Given the description of an element on the screen output the (x, y) to click on. 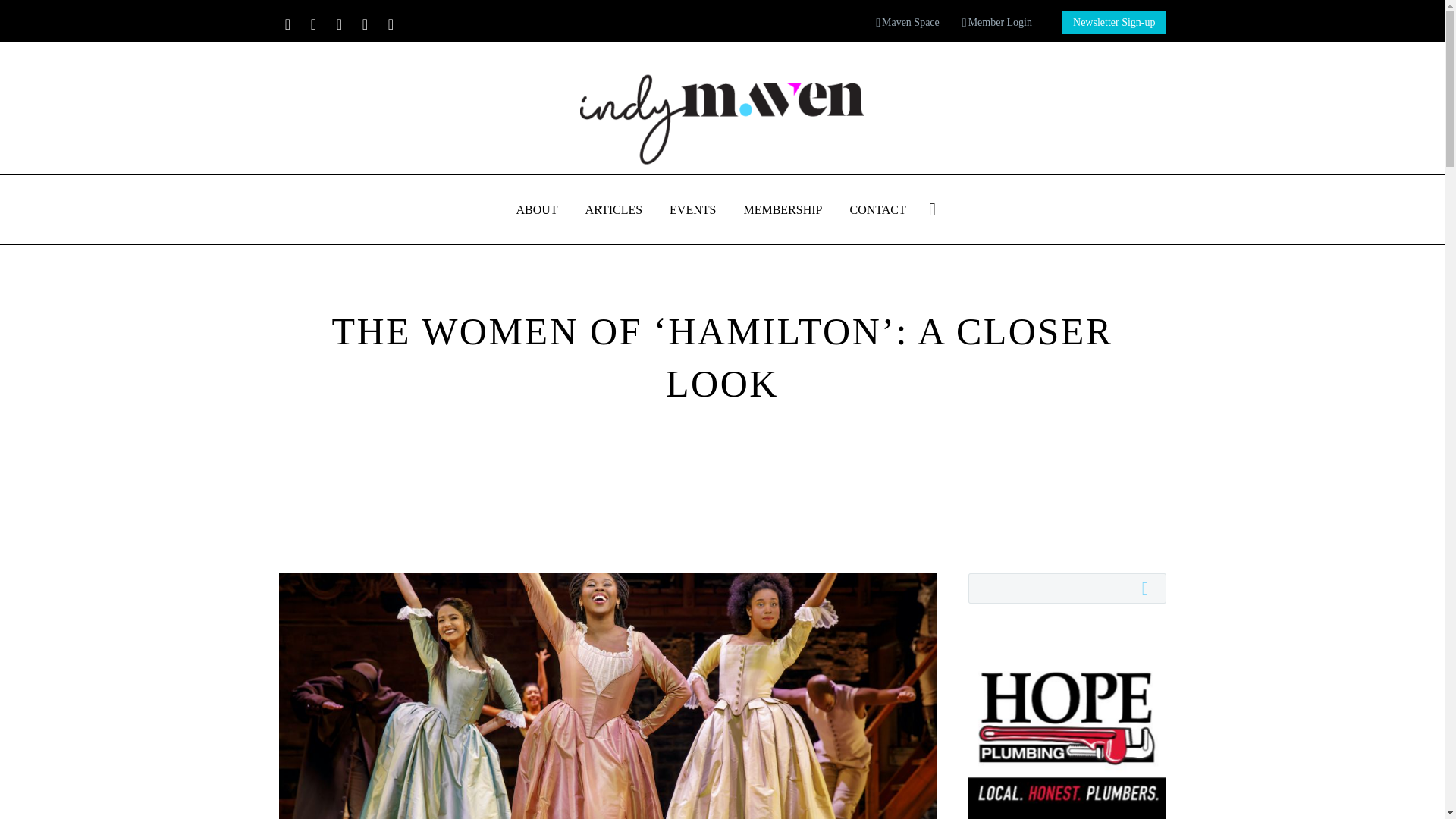
Maven Space (907, 22)
ABOUT (537, 209)
MEMBERSHIP (782, 209)
Facebook (287, 23)
Twitter (339, 23)
Member Login (997, 22)
ARTICLES (613, 209)
LinkedIn (312, 23)
EVENTS (692, 209)
Pinterest (390, 23)
Newsletter Sign-up (1114, 22)
Instagram (364, 23)
